Given the description of an element on the screen output the (x, y) to click on. 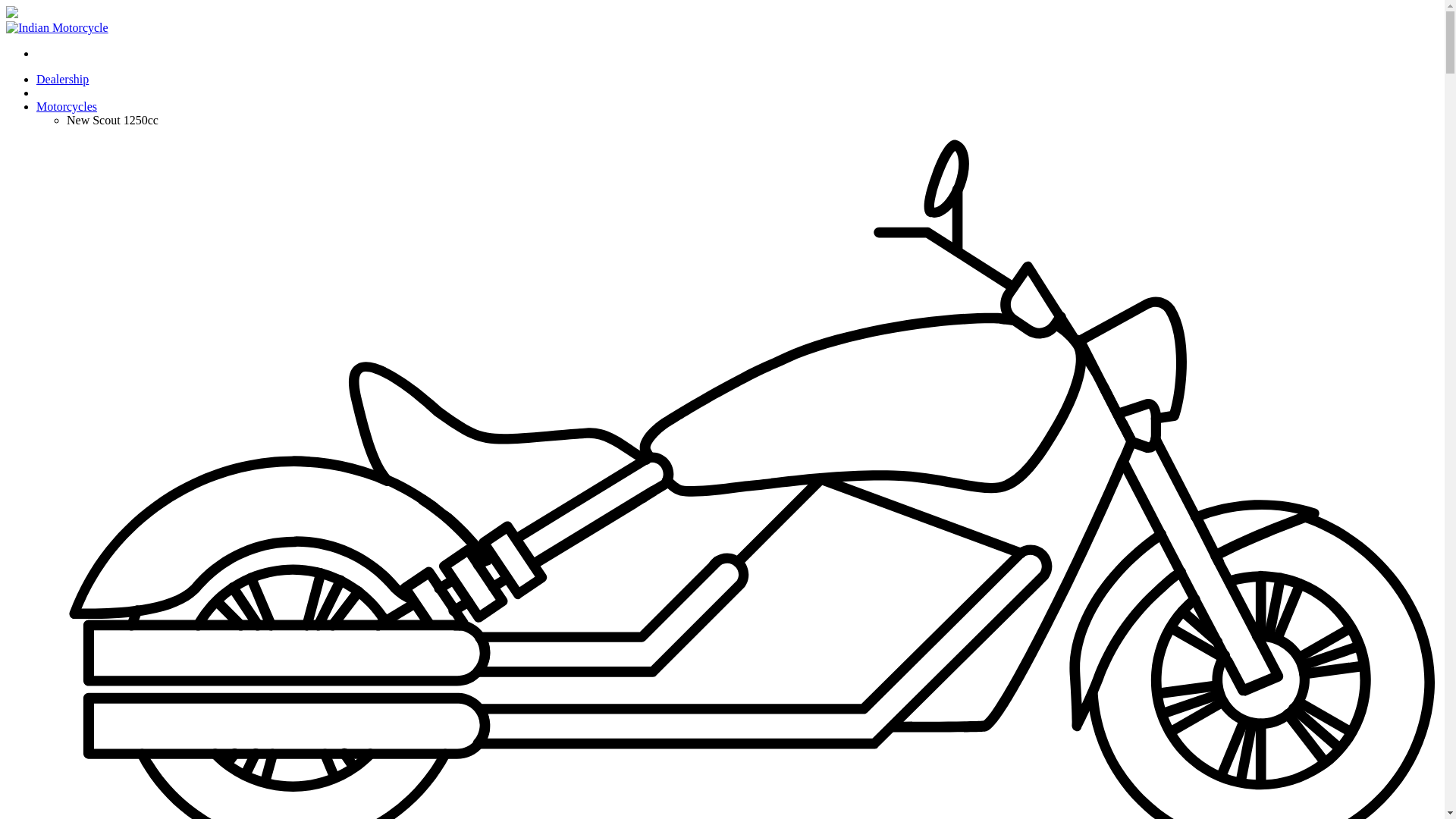
Dealership (62, 78)
Motorcycles (66, 106)
